Given the description of an element on the screen output the (x, y) to click on. 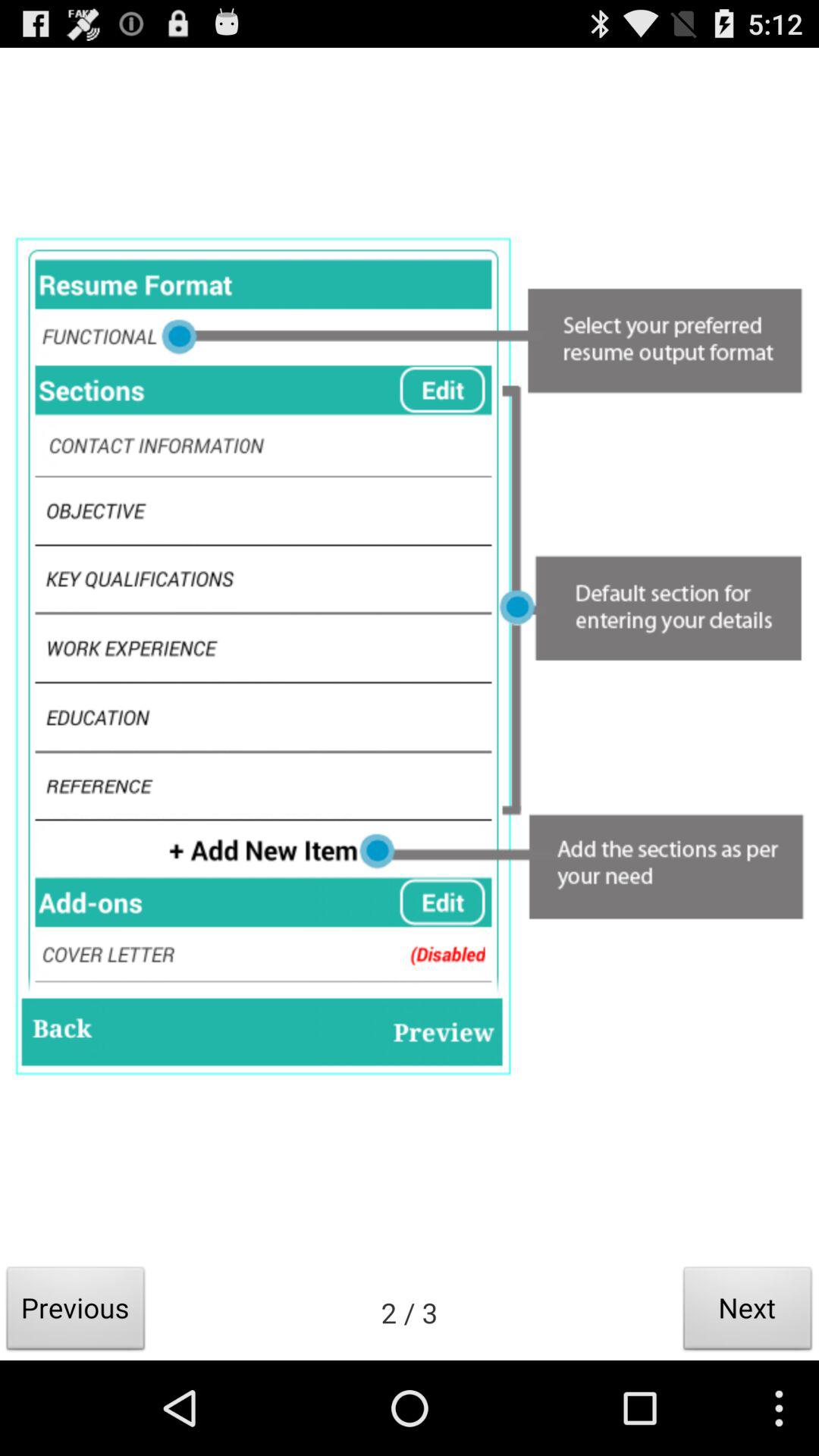
open the icon to the right of the 2 / 3 item (747, 1312)
